Given the description of an element on the screen output the (x, y) to click on. 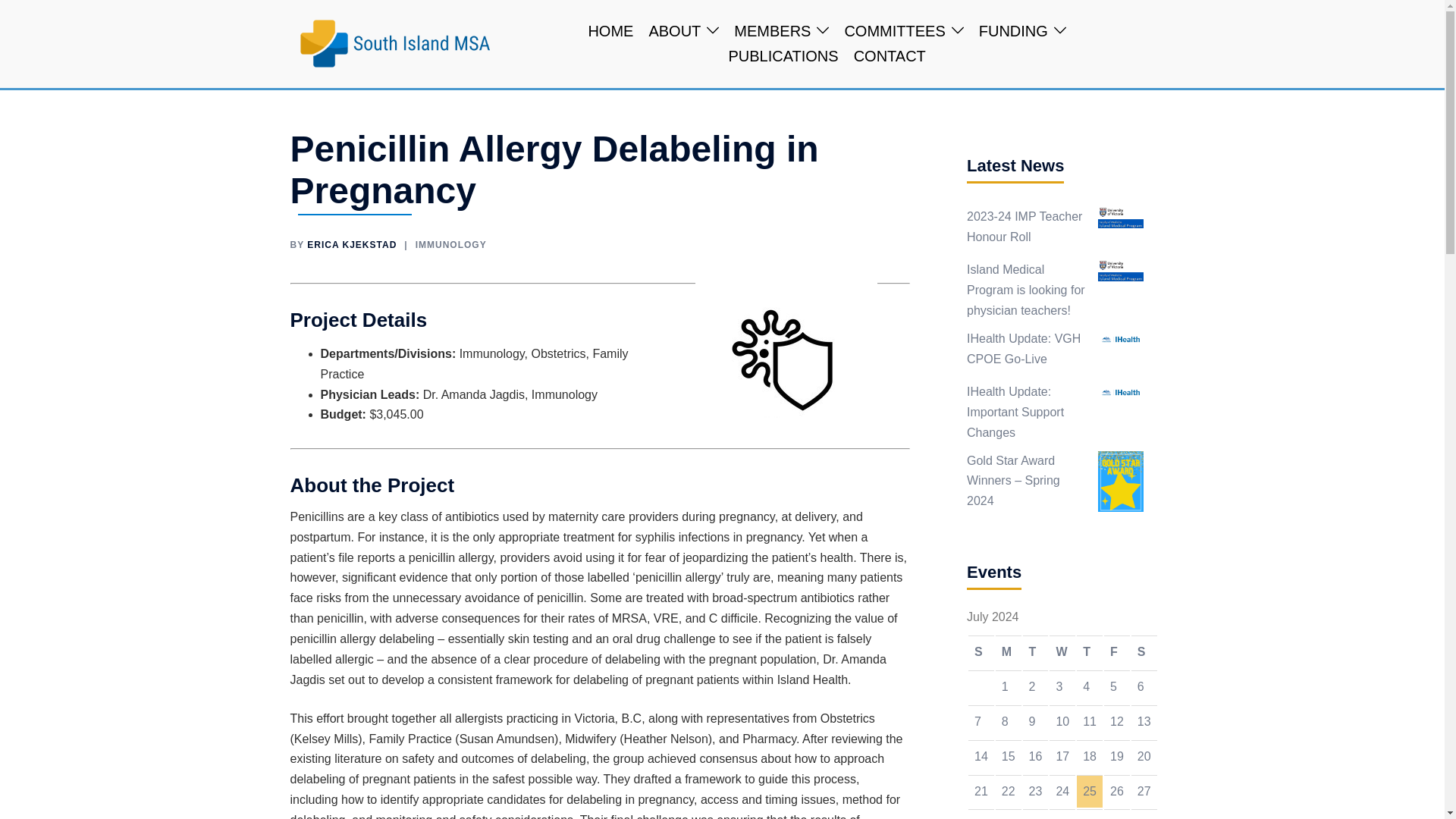
ABOUT (673, 31)
Lunch in the Lounge (1089, 756)
HOME (610, 31)
CONTACT (889, 56)
COMMITTEES (894, 31)
PUBLICATIONS (783, 56)
MEMBERS (771, 31)
South Island Medical Staff Association (394, 42)
FUNDING (1013, 31)
